Given the description of an element on the screen output the (x, y) to click on. 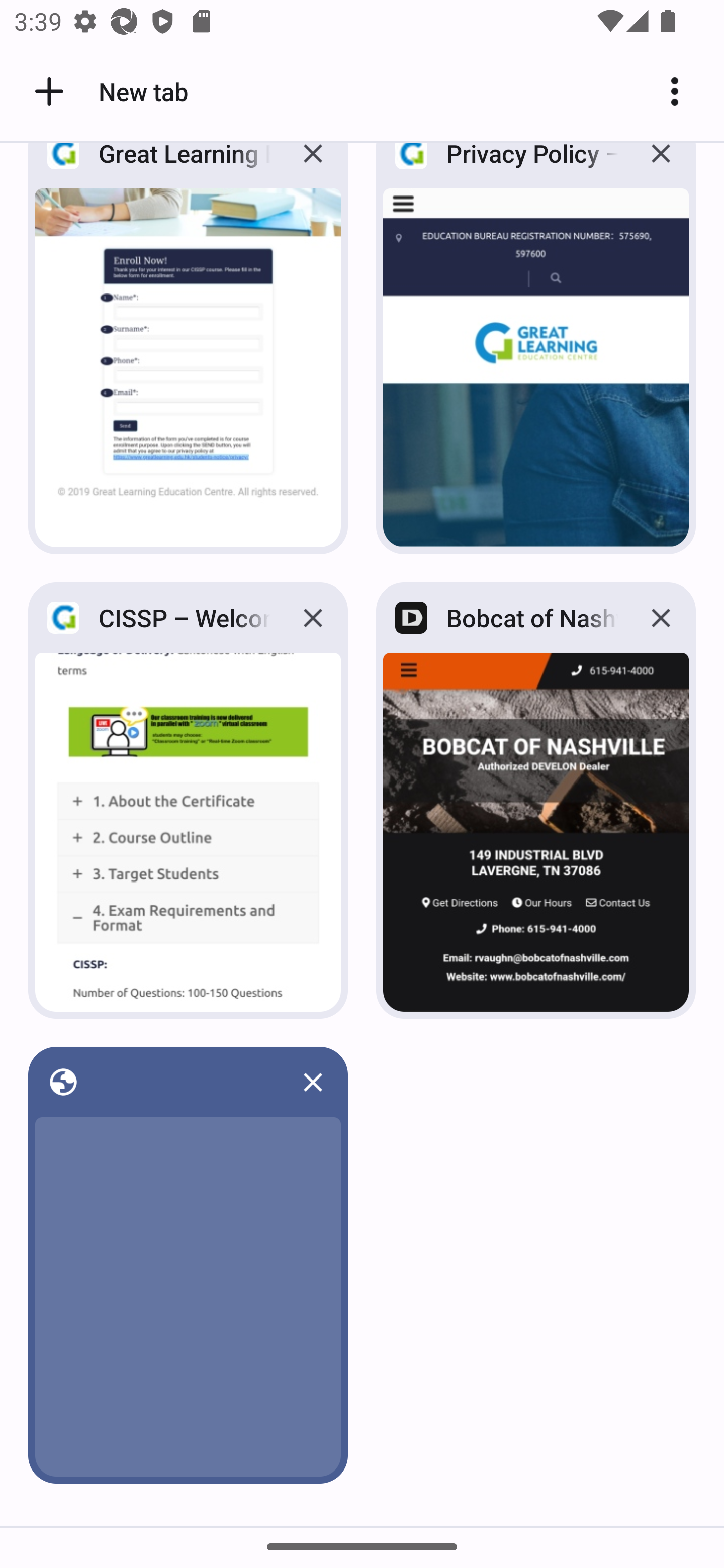
New tab (108, 91)
More options (681, 91)
Close Great Learning Education Centre tab (312, 168)
Close Bobcat of Nashville | DEVELON® LaVergne tab (660, 617)
, tab Close  tab (187, 1265)
Close  tab (312, 1081)
